Given the description of an element on the screen output the (x, y) to click on. 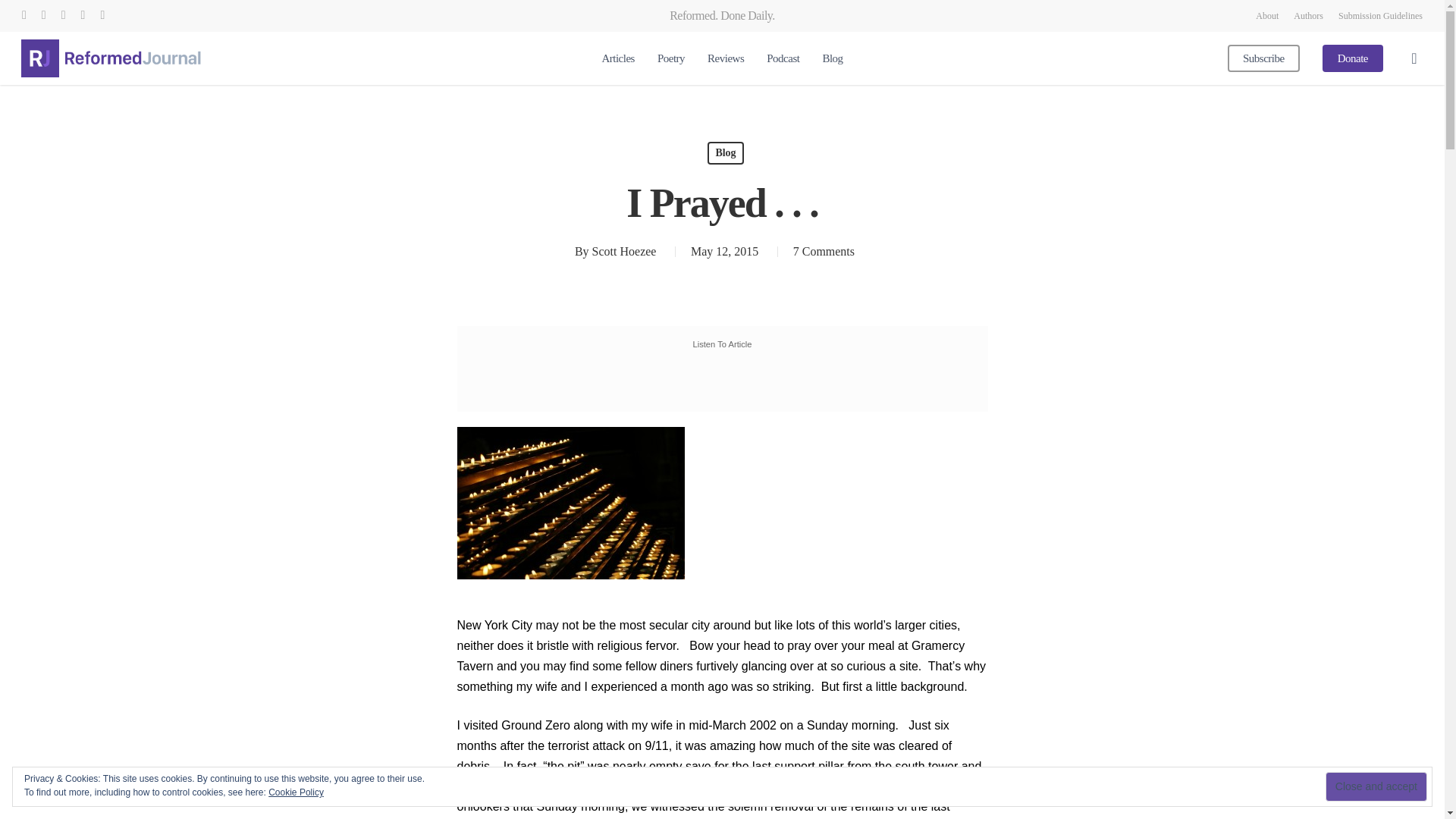
About (1266, 15)
Authors (1308, 15)
Subscribe (1263, 58)
Blog (724, 152)
Articles (617, 58)
Close and accept (1375, 786)
Posts by Scott Hoezee (624, 250)
Podcast (783, 58)
search (1414, 57)
Blog (832, 58)
